Given the description of an element on the screen output the (x, y) to click on. 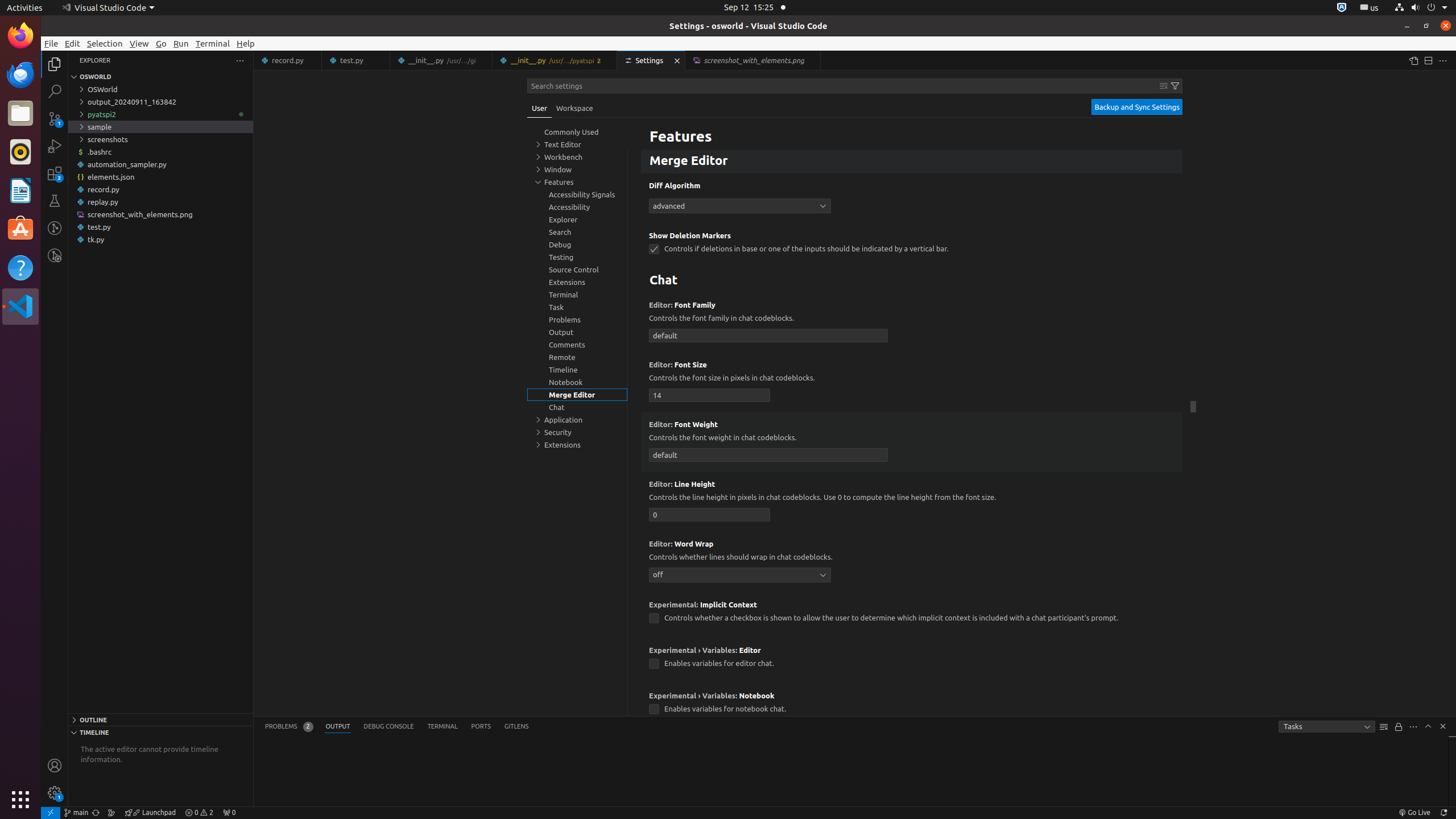
Features, group Element type: tree-item (577, 181)
Text Editor, group Element type: tree-item (577, 144)
Problems (Ctrl+Shift+M) - Total 2 Problems Element type: page-tab (288, 726)
OSWorld (Git) - main, Checkout Branch/Tag... Element type: push-button (75, 812)
Explorer Section: osworld Element type: push-button (160, 76)
